Given the description of an element on the screen output the (x, y) to click on. 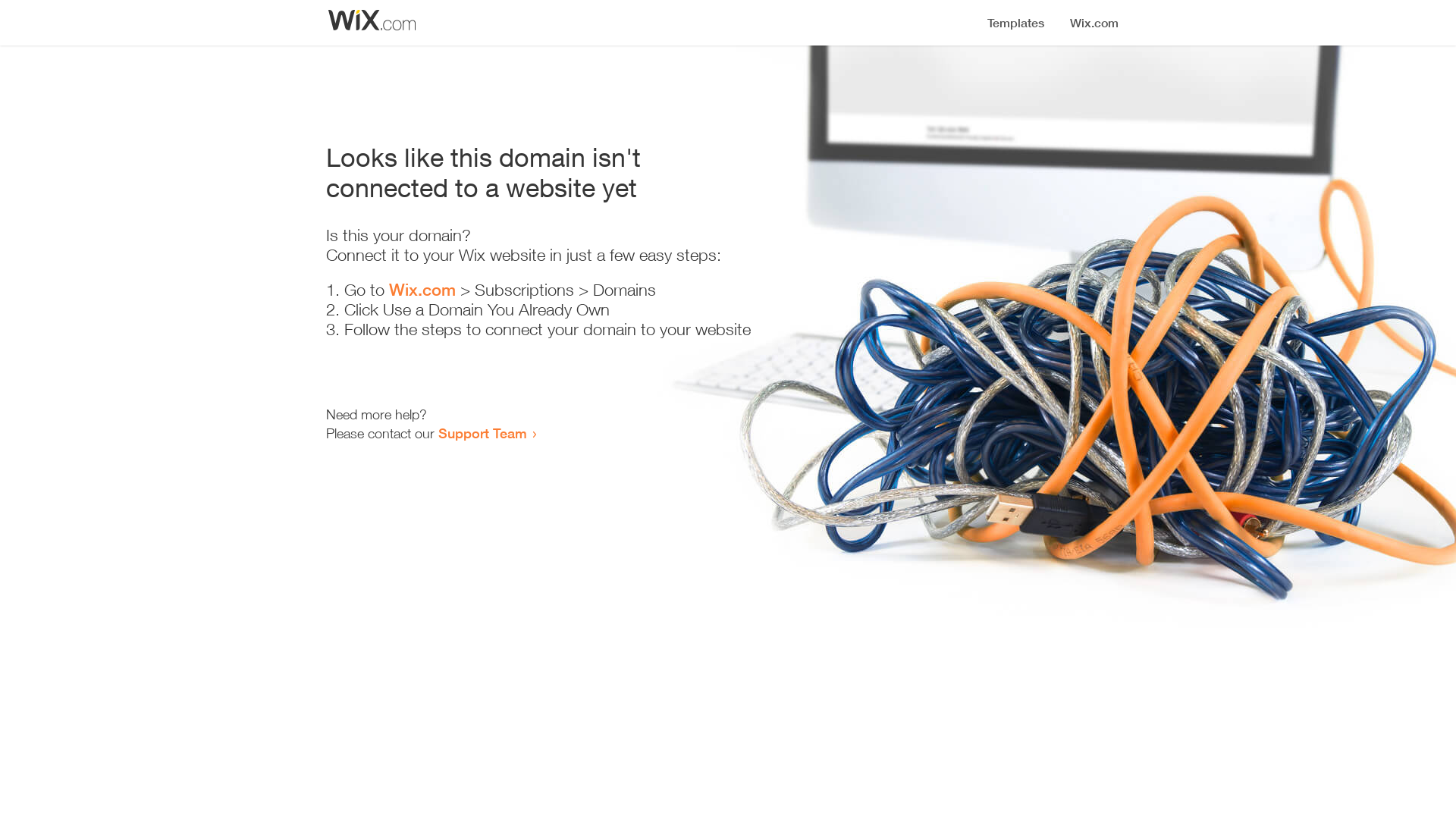
Support Team Element type: text (482, 432)
Wix.com Element type: text (422, 289)
